Given the description of an element on the screen output the (x, y) to click on. 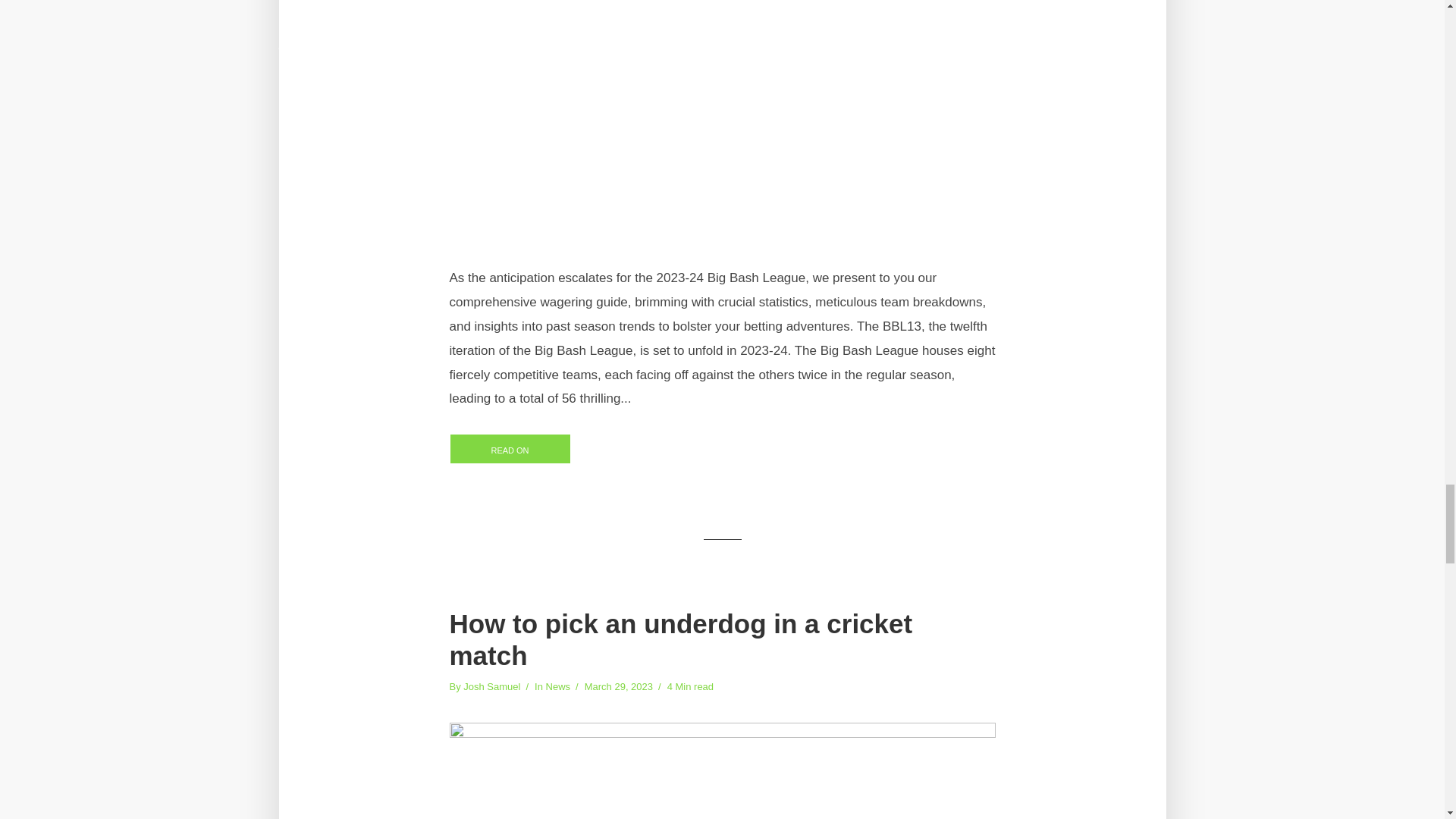
How to pick an underdog in a cricket match (721, 639)
READ ON (509, 449)
Josh Samuel (491, 687)
News (558, 687)
